Given the description of an element on the screen output the (x, y) to click on. 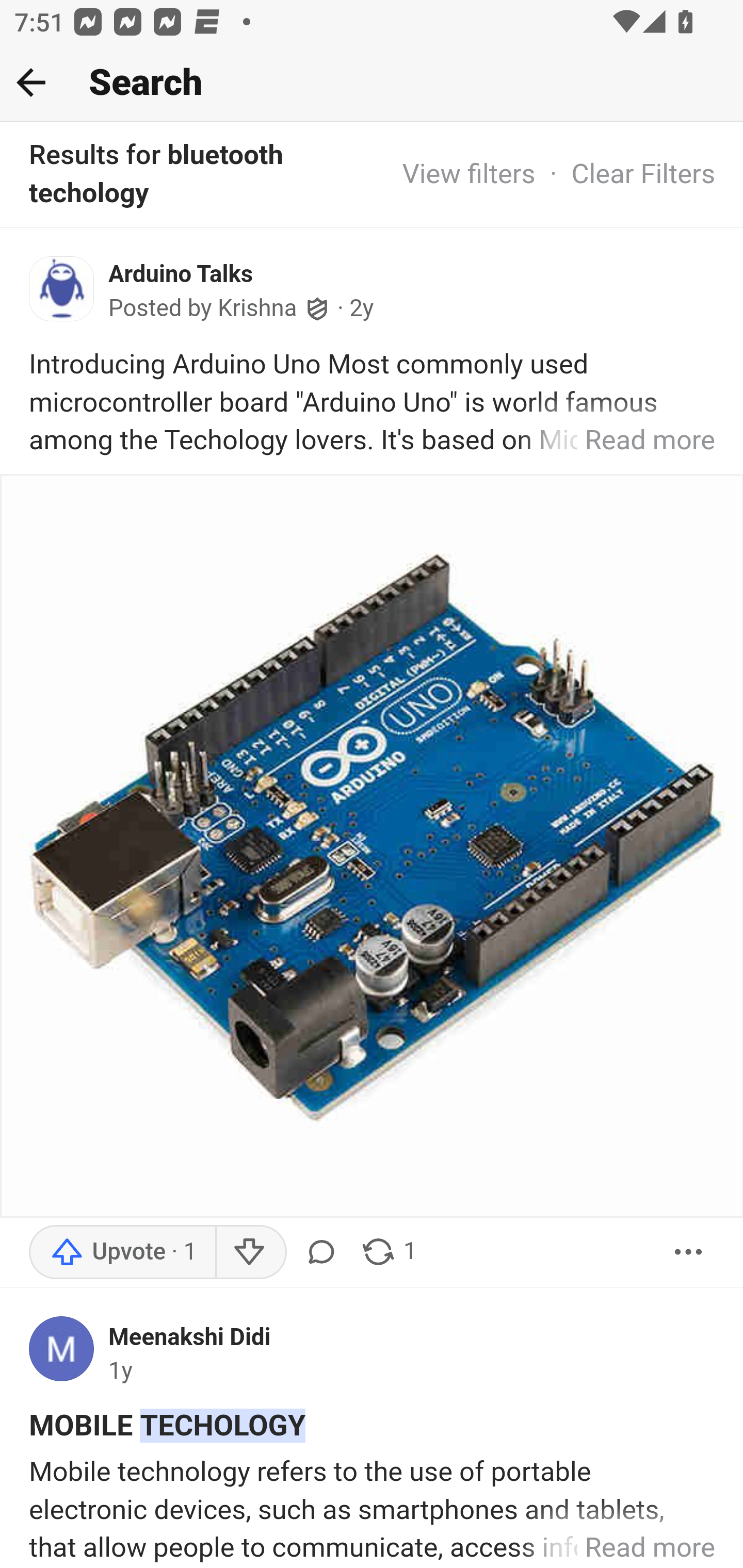
Back Search (371, 82)
Back (30, 82)
View filters (468, 173)
· Clear Filters · Clear Filters (625, 173)
Icon for Arduino Talks (68, 293)
Arduino Talks (181, 274)
Krishna (256, 308)
2y 2 y (361, 308)
Upvote (122, 1252)
Downvote (249, 1252)
Comment (324, 1252)
1 share (387, 1252)
More (688, 1252)
Profile photo for Meenakshi Didi (68, 1352)
Meenakshi Didi (189, 1336)
1y 1 y (120, 1371)
